Given the description of an element on the screen output the (x, y) to click on. 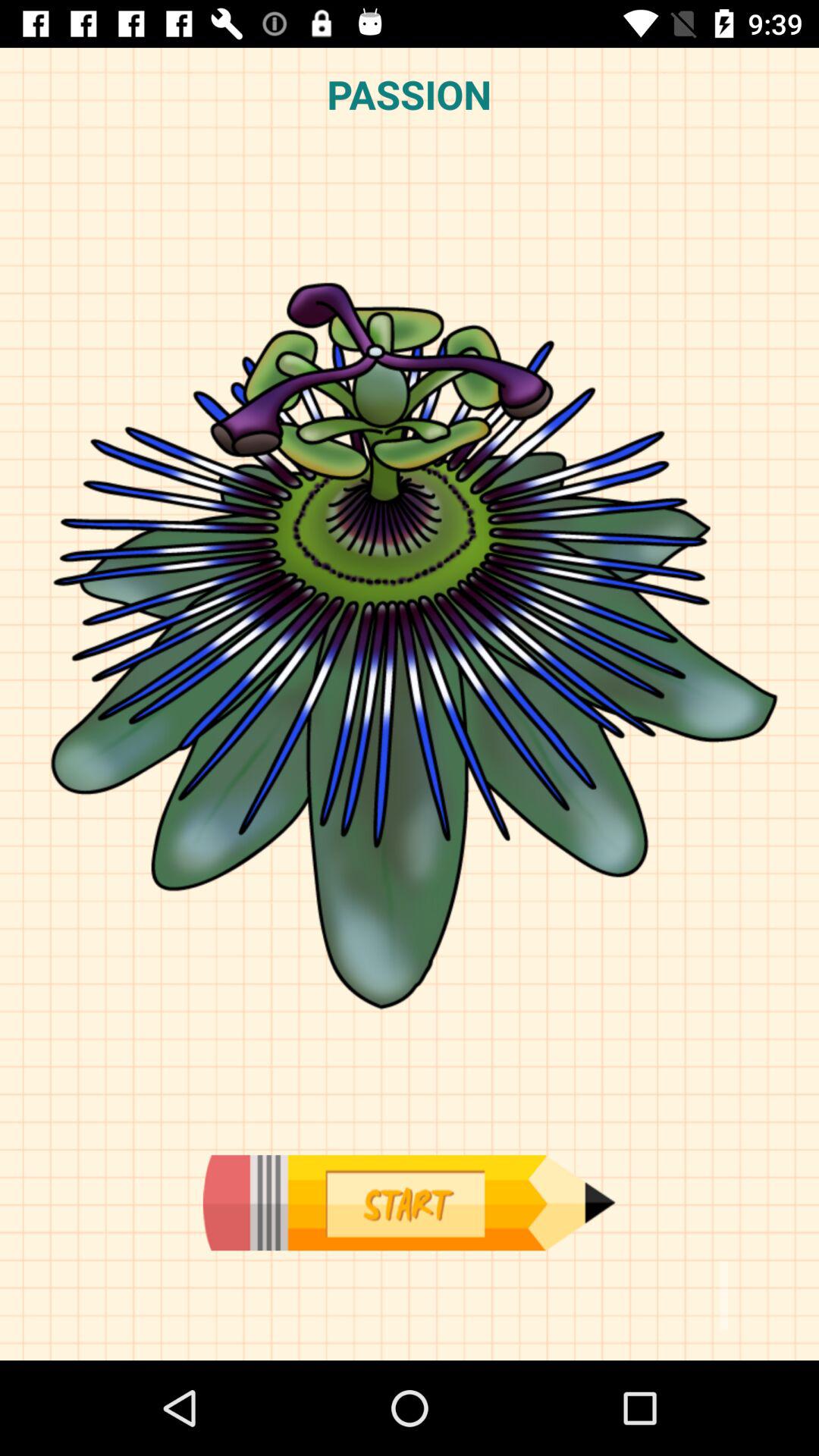
press to start (409, 1202)
